Given the description of an element on the screen output the (x, y) to click on. 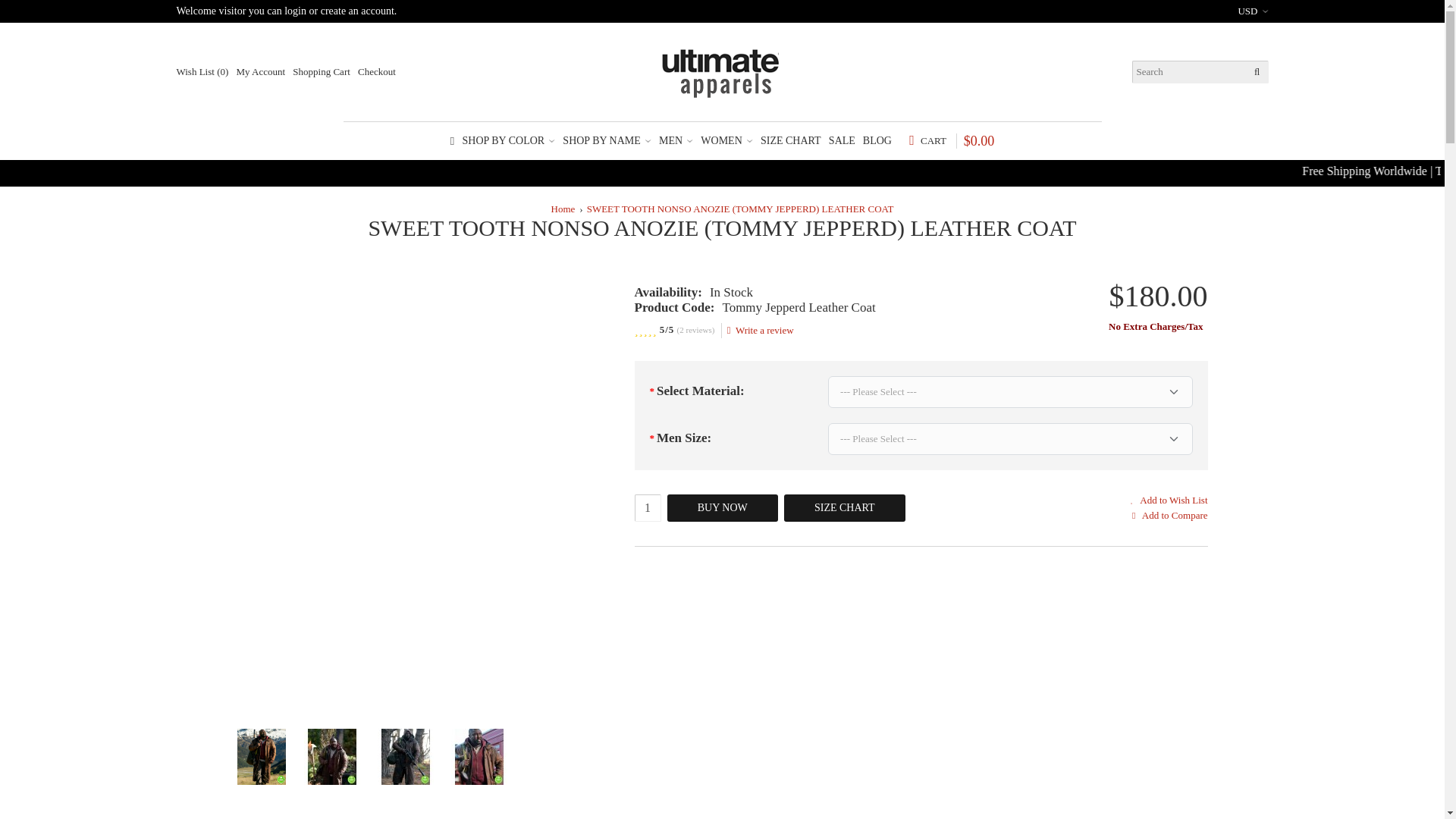
My Account (260, 71)
login (294, 10)
SHOP BY COLOR (509, 140)
Blog (877, 140)
USD (1252, 11)
Shopping Cart (320, 71)
create an account (357, 10)
1 (647, 507)
Checkout (377, 71)
MEN (676, 140)
SHOP BY NAME (606, 140)
US Dollar (1252, 11)
Ultimate Apparels (721, 71)
Search (1256, 71)
